Given the description of an element on the screen output the (x, y) to click on. 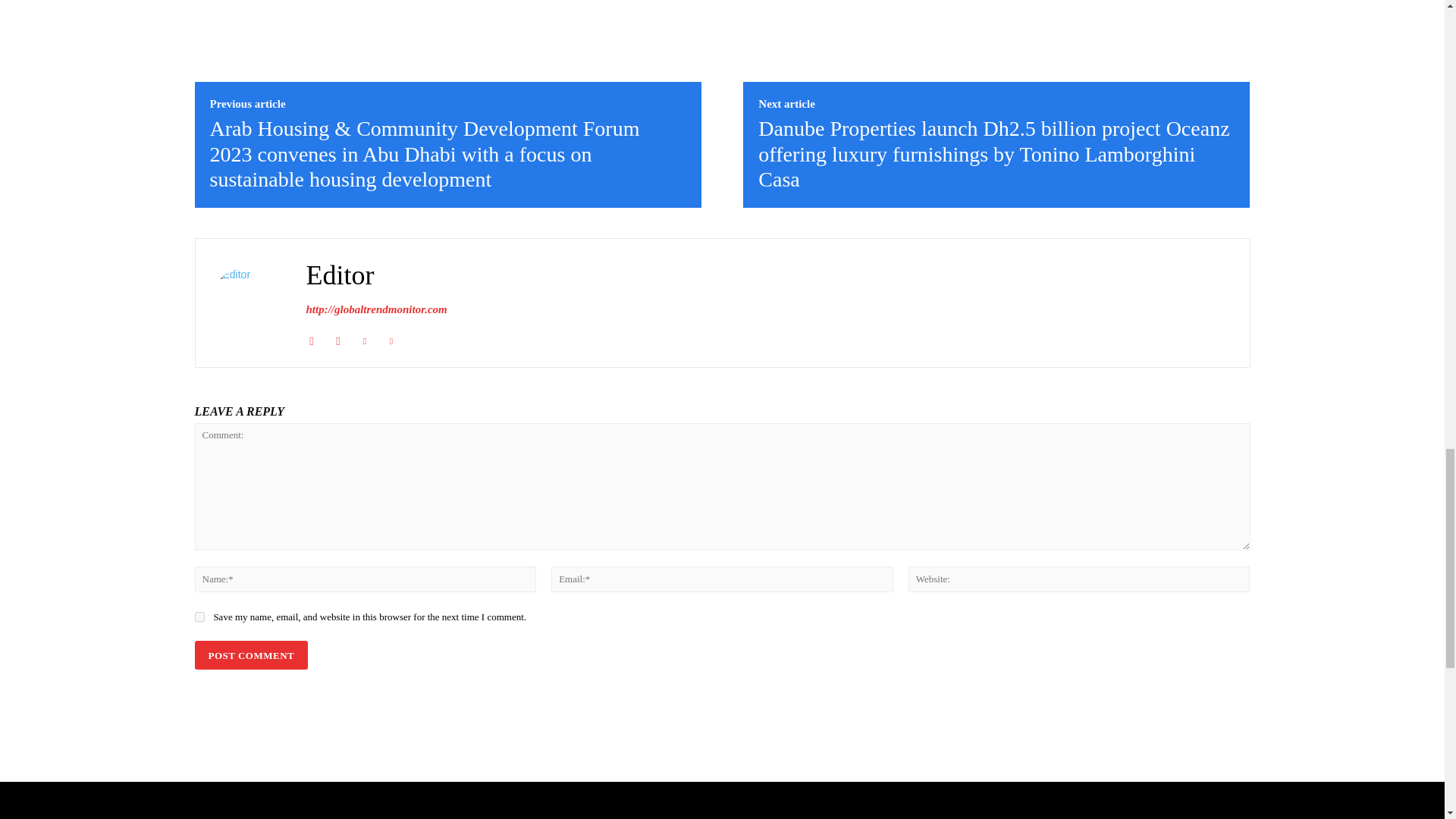
Post Comment (250, 655)
yes (198, 616)
